Given the description of an element on the screen output the (x, y) to click on. 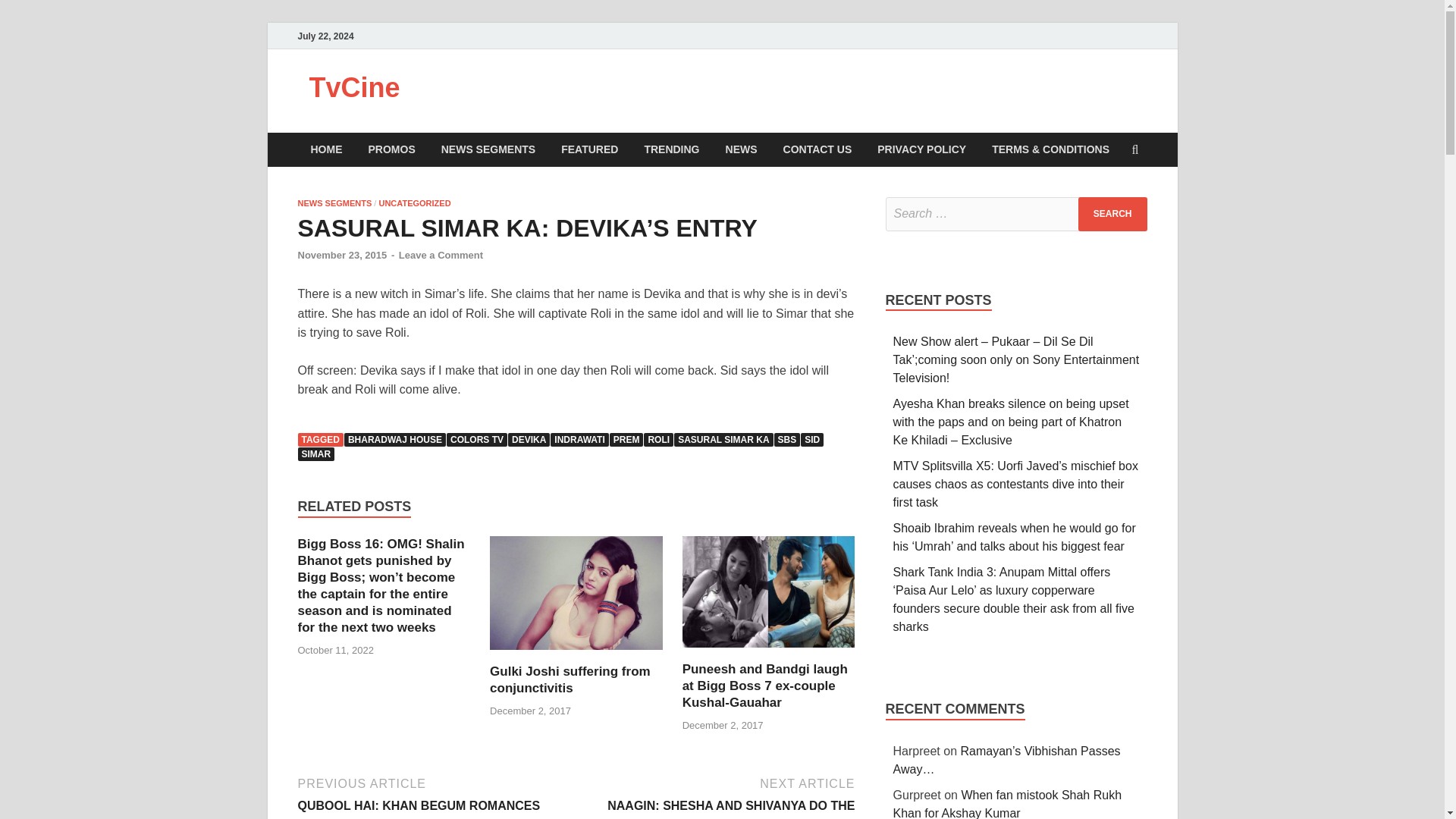
PREM (626, 439)
NEWS (741, 149)
COLORS TV (476, 439)
Gulki Joshi suffering from conjunctivitis (569, 679)
Gulki Joshi suffering from conjunctivitis (575, 653)
HOME (326, 149)
SID (812, 439)
November 23, 2015 (342, 255)
INDRAWATI (579, 439)
Gulki Joshi suffering from conjunctivitis (569, 679)
Search (1112, 213)
UNCATEGORIZED (413, 203)
SASURAL SIMAR KA (723, 439)
PRIVACY POLICY (921, 149)
